Given the description of an element on the screen output the (x, y) to click on. 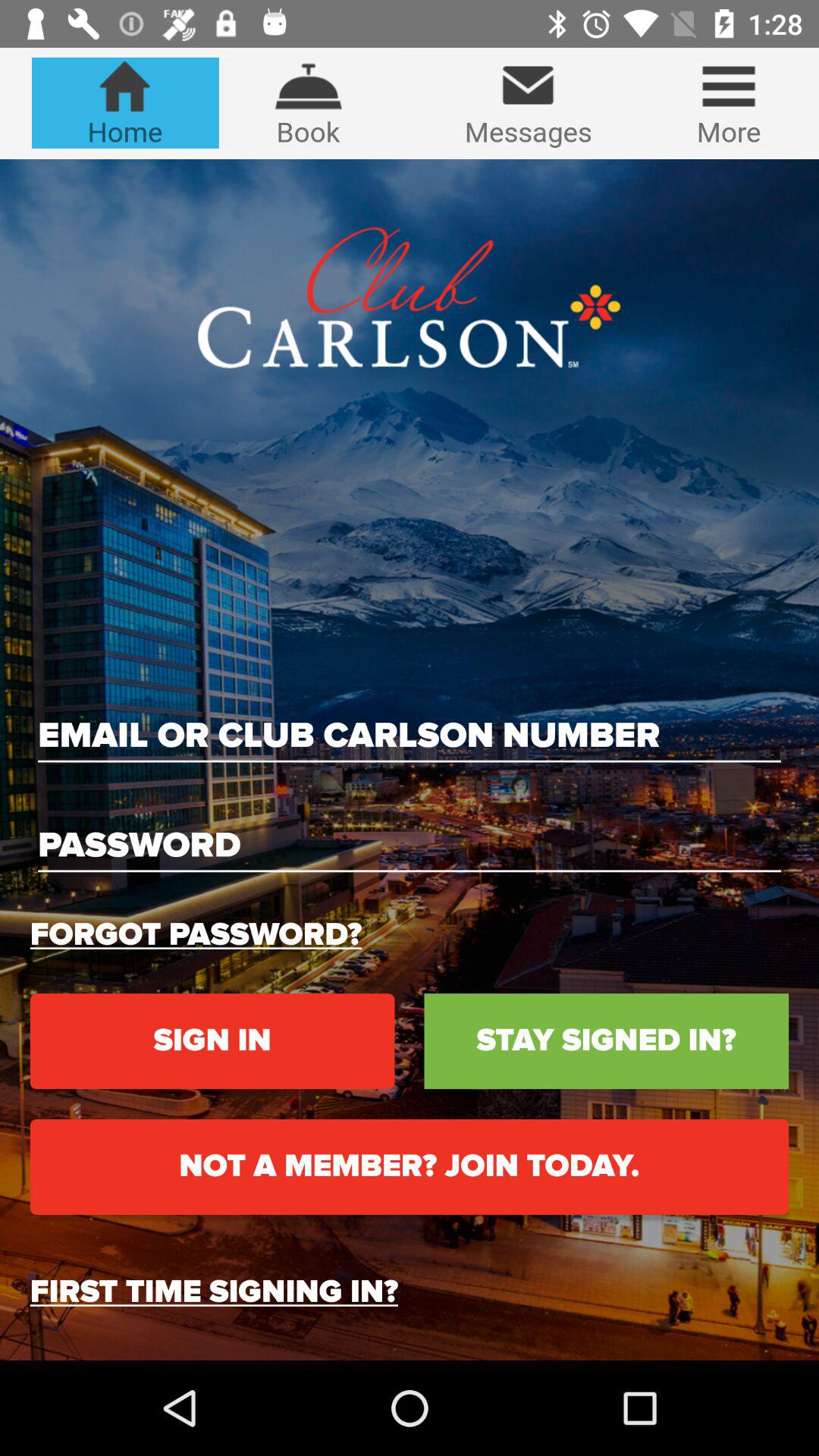
password (409, 845)
